Given the description of an element on the screen output the (x, y) to click on. 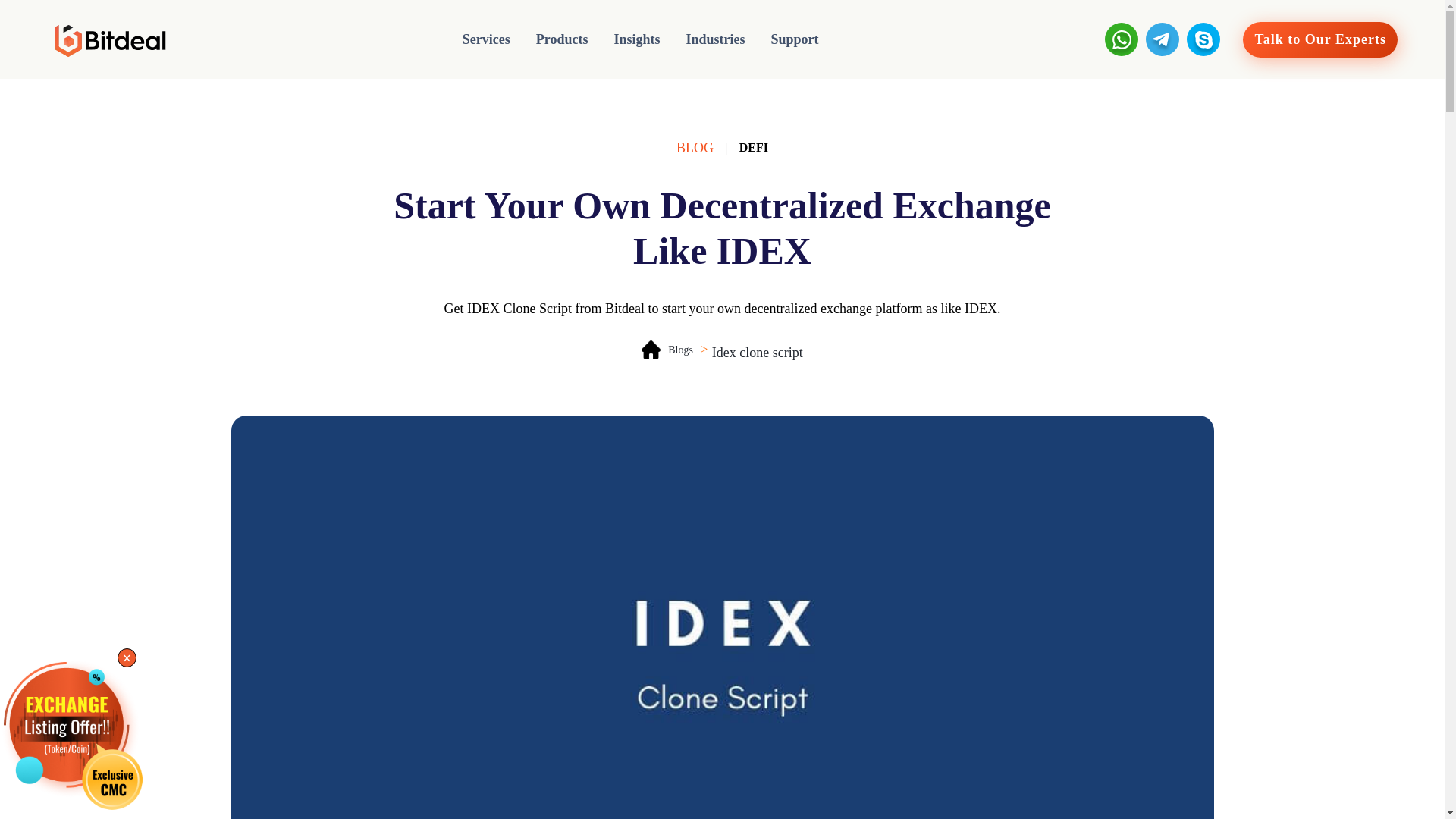
BitdealLogo (106, 39)
Products (561, 39)
Telegram (1162, 39)
Talk to Our Experts (1320, 38)
Support (794, 39)
Exchange Listing Offer (75, 738)
Insights (636, 39)
Blogs (667, 349)
Services (485, 39)
HomeBlog (651, 349)
WhatsApp (1121, 39)
Skype (1203, 39)
Industries (715, 39)
